Given the description of an element on the screen output the (x, y) to click on. 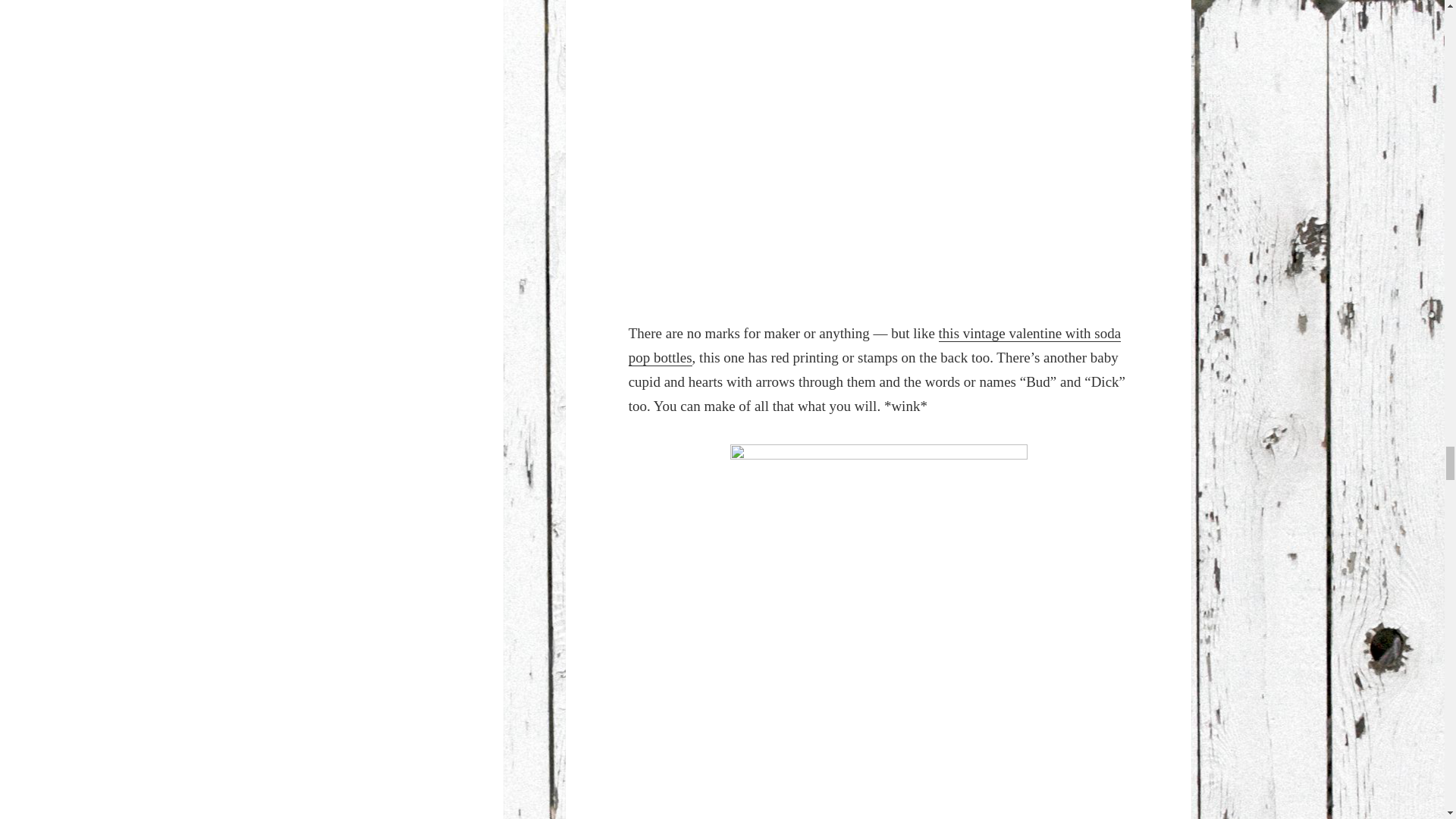
vintage angels harp baby cupid valentine (879, 148)
